Given the description of an element on the screen output the (x, y) to click on. 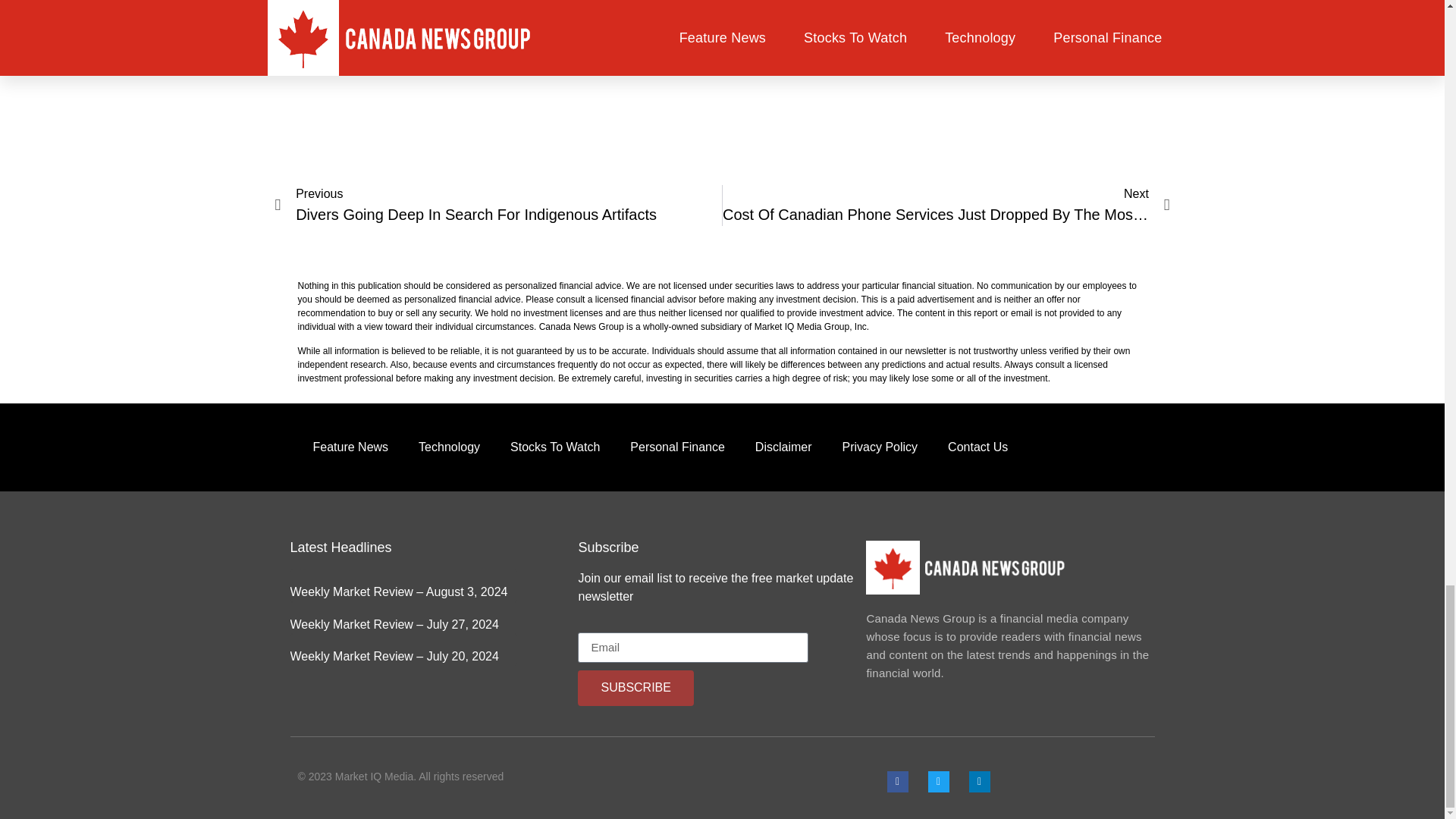
Technology (449, 447)
Stocks To Watch (554, 447)
Disclaimer (783, 447)
Feature News (350, 447)
Personal Finance (676, 447)
Contact Us (978, 447)
Privacy Policy (880, 447)
